Given the description of an element on the screen output the (x, y) to click on. 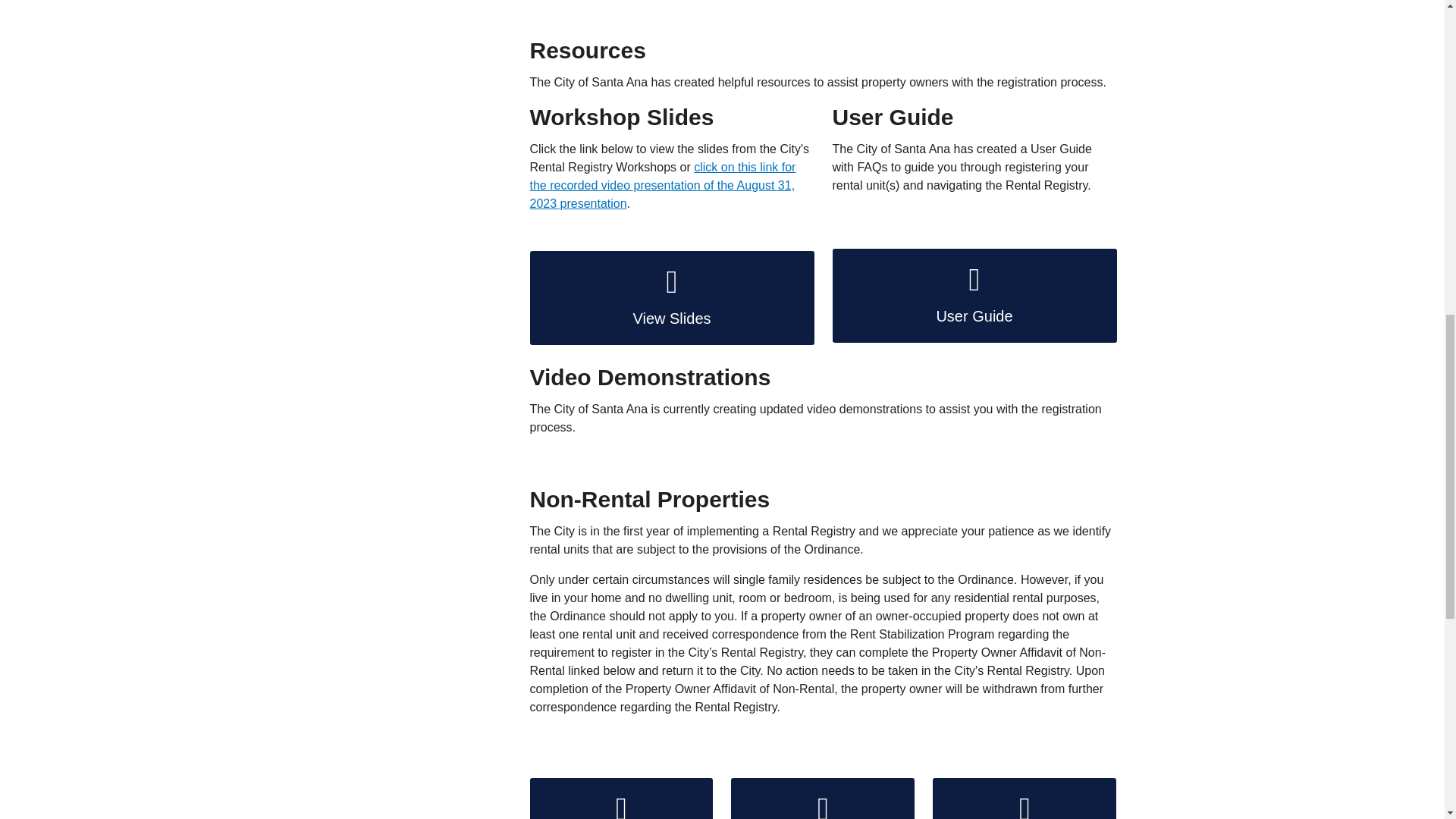
User Guide (974, 295)
Affidavit - Spanish (822, 798)
Affidavit - English (621, 798)
Affidavit - Vietnamese (1024, 798)
View Slides (671, 297)
